Given the description of an element on the screen output the (x, y) to click on. 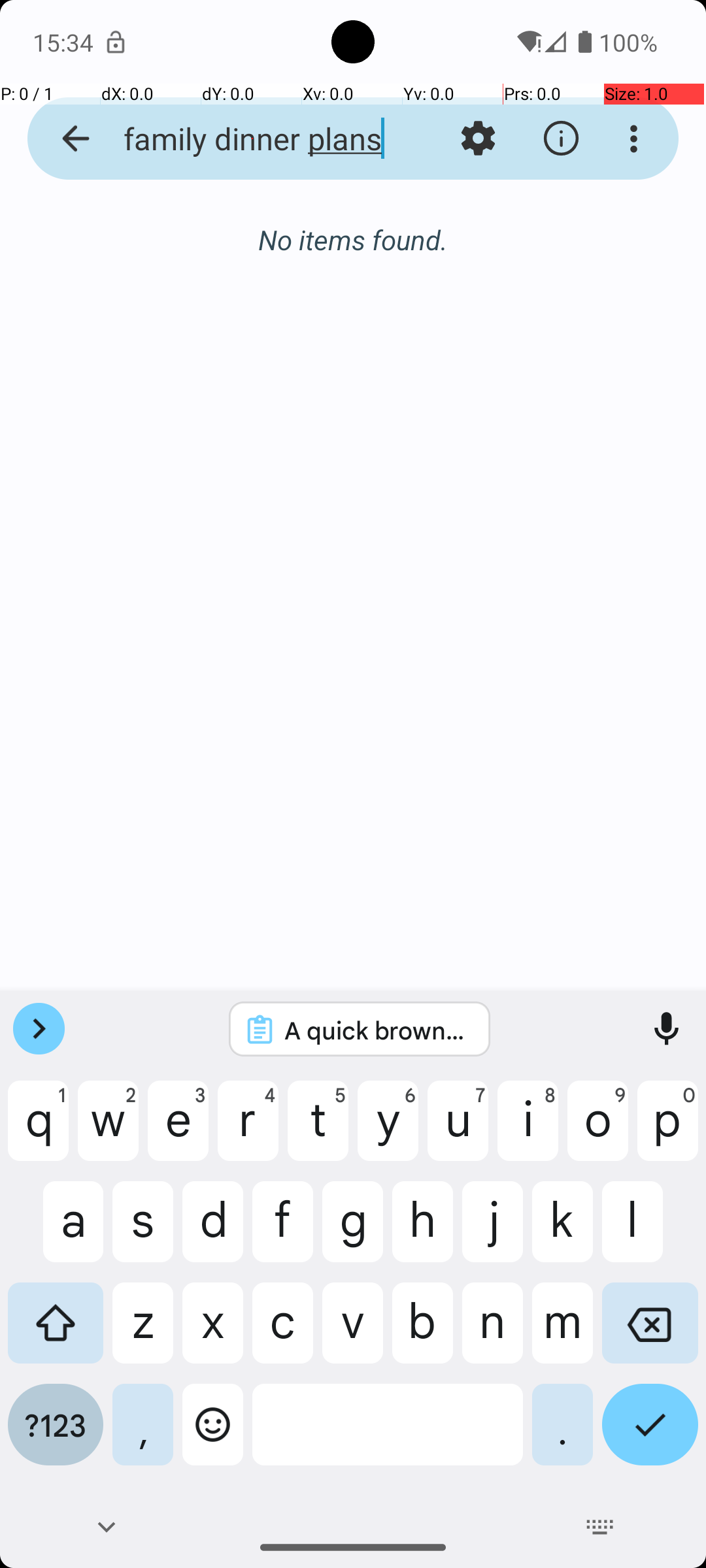
family dinner plans Element type: android.widget.EditText (252, 138)
A quick brown fox. Element type: android.widget.TextView (376, 1029)
